Given the description of an element on the screen output the (x, y) to click on. 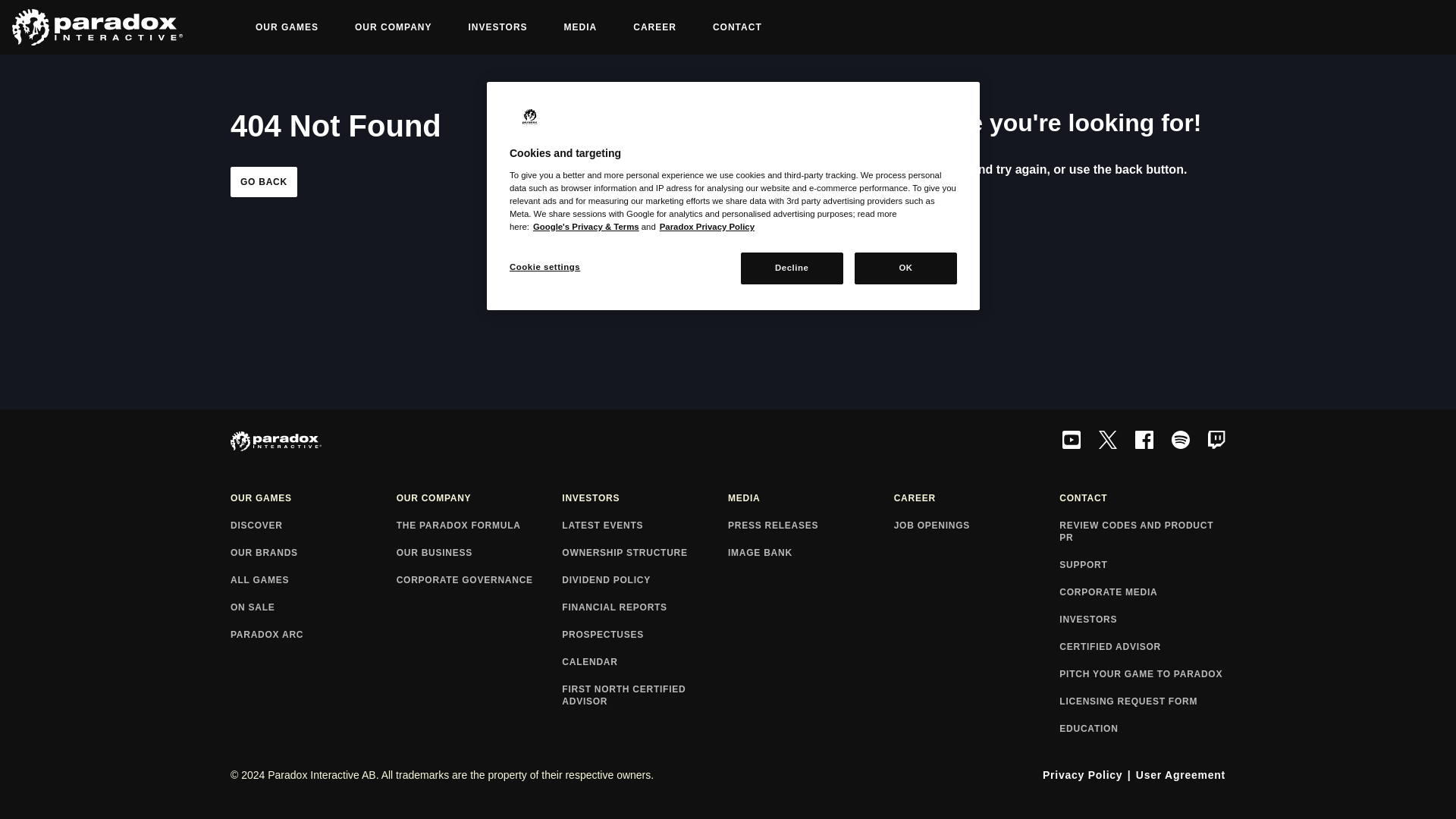
ON SALE (313, 607)
MEDIA (810, 498)
DISCOVER (313, 525)
MEDIA (580, 27)
PROSPECTUSES (645, 635)
OUR BRANDS (313, 553)
GO BACK (263, 182)
OUR COMPANY (479, 498)
OUR BUSINESS (479, 553)
OUR COMPANY (392, 27)
Paradox Interactive (529, 116)
FINANCIAL REPORTS (645, 607)
Paradox on Twitch (1216, 441)
THE PARADOX FORMULA (479, 525)
CAREER (654, 27)
